Given the description of an element on the screen output the (x, y) to click on. 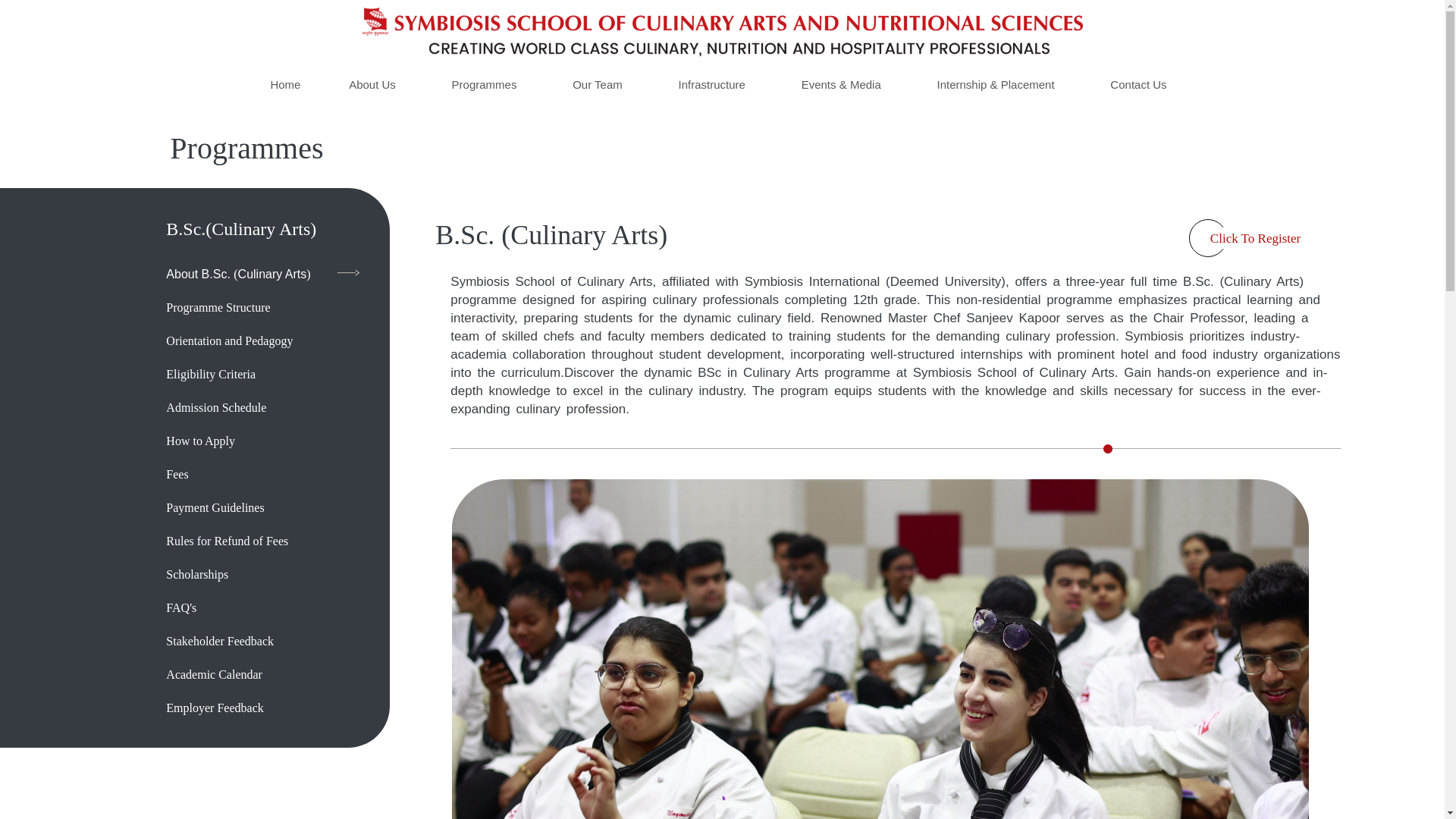
Programmes (484, 84)
Infrastructure (711, 84)
About Us (372, 84)
Our Team (597, 84)
Home (284, 84)
